Given the description of an element on the screen output the (x, y) to click on. 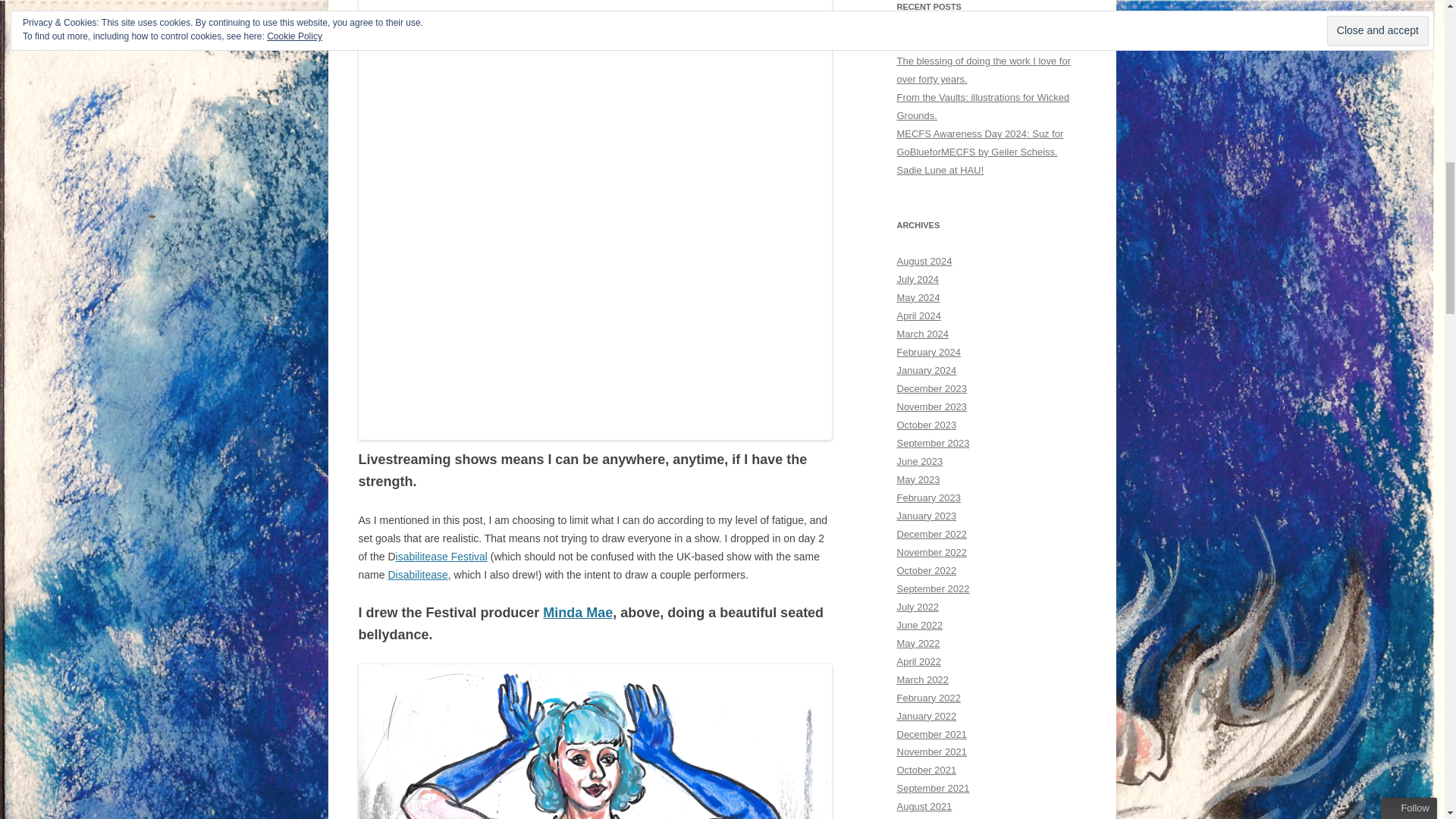
Minda Mae (577, 612)
Disabilitease (416, 574)
isabilitease Festival (441, 556)
Enter email address (1350, 135)
Subscribe (1350, 166)
